Given the description of an element on the screen output the (x, y) to click on. 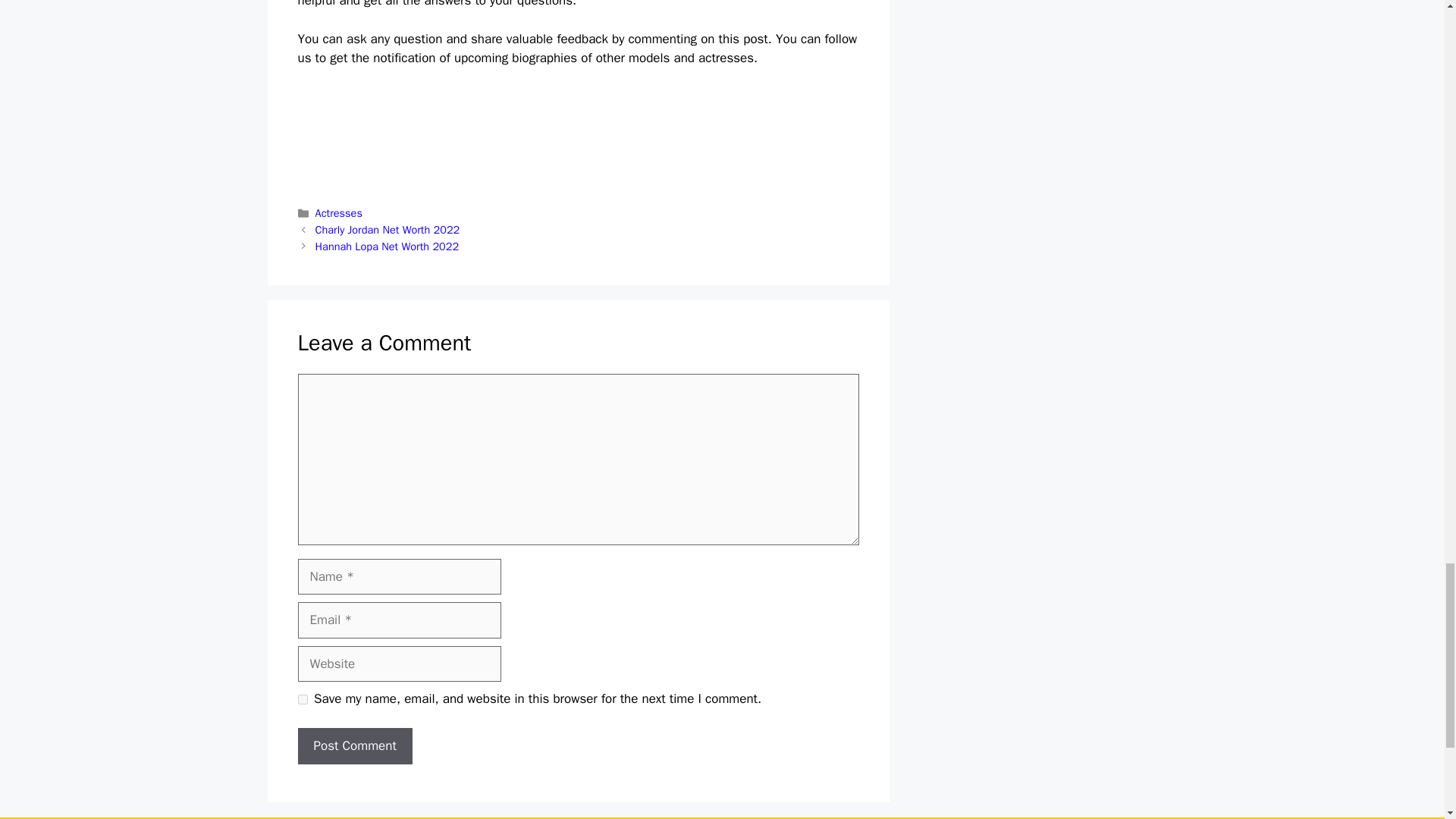
Post Comment (354, 746)
Post Comment (354, 746)
yes (302, 699)
Charly Jordan Net Worth 2022 (387, 229)
Actresses (338, 213)
Hannah Lopa Net Worth 2022 (386, 246)
